Given the description of an element on the screen output the (x, y) to click on. 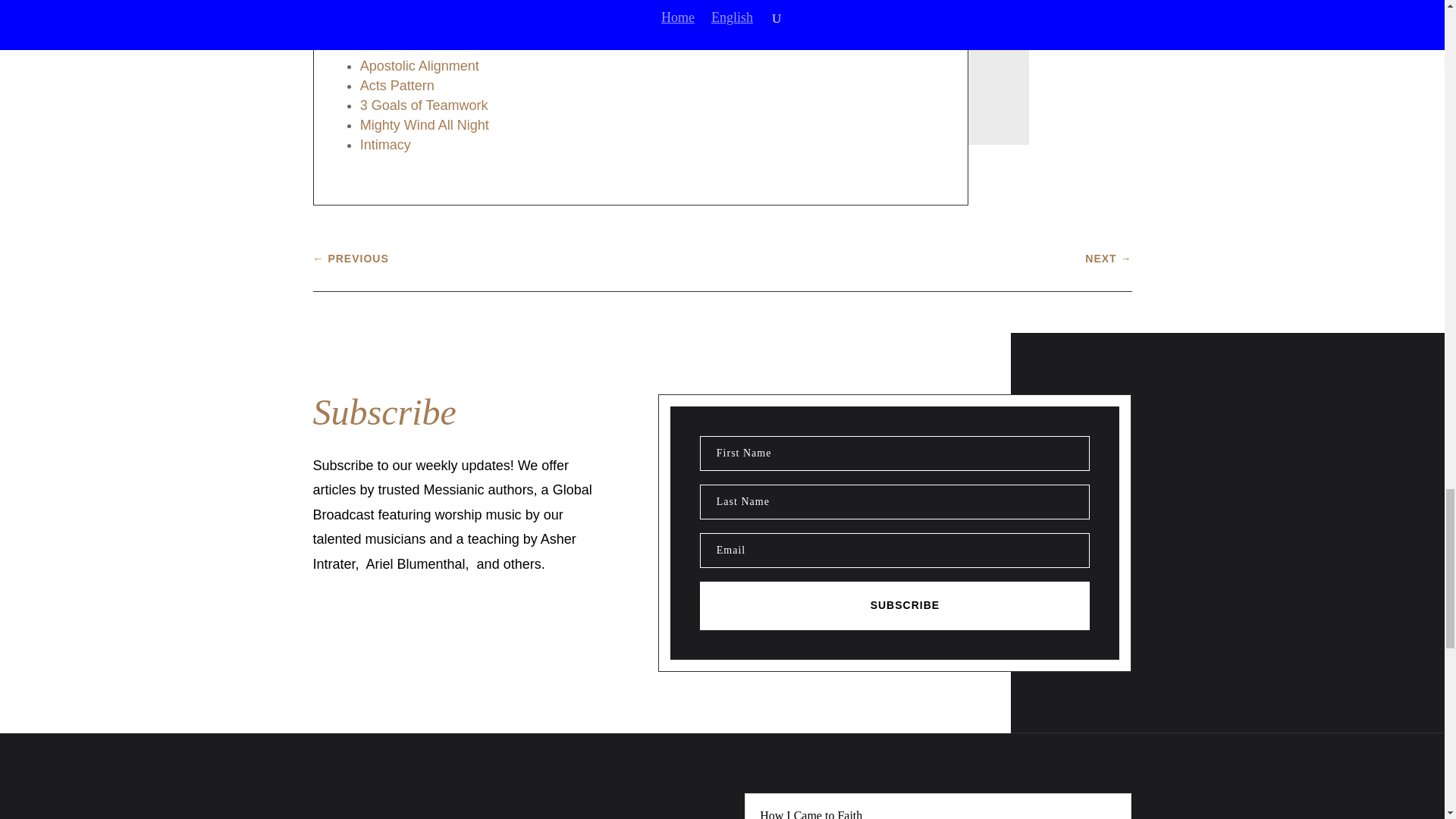
authority (407, 22)
authority (407, 22)
honor (458, 22)
Leadership (517, 22)
Intimacy (384, 144)
Acts Pattern (396, 85)
Mighty Wind All Night (424, 124)
SUBSCRIBE (894, 605)
relationship (593, 22)
Leadership (517, 22)
unity (650, 22)
unity (650, 22)
How I Came to Faith (810, 814)
honor (458, 22)
Apostolic Alignment (419, 65)
